Given the description of an element on the screen output the (x, y) to click on. 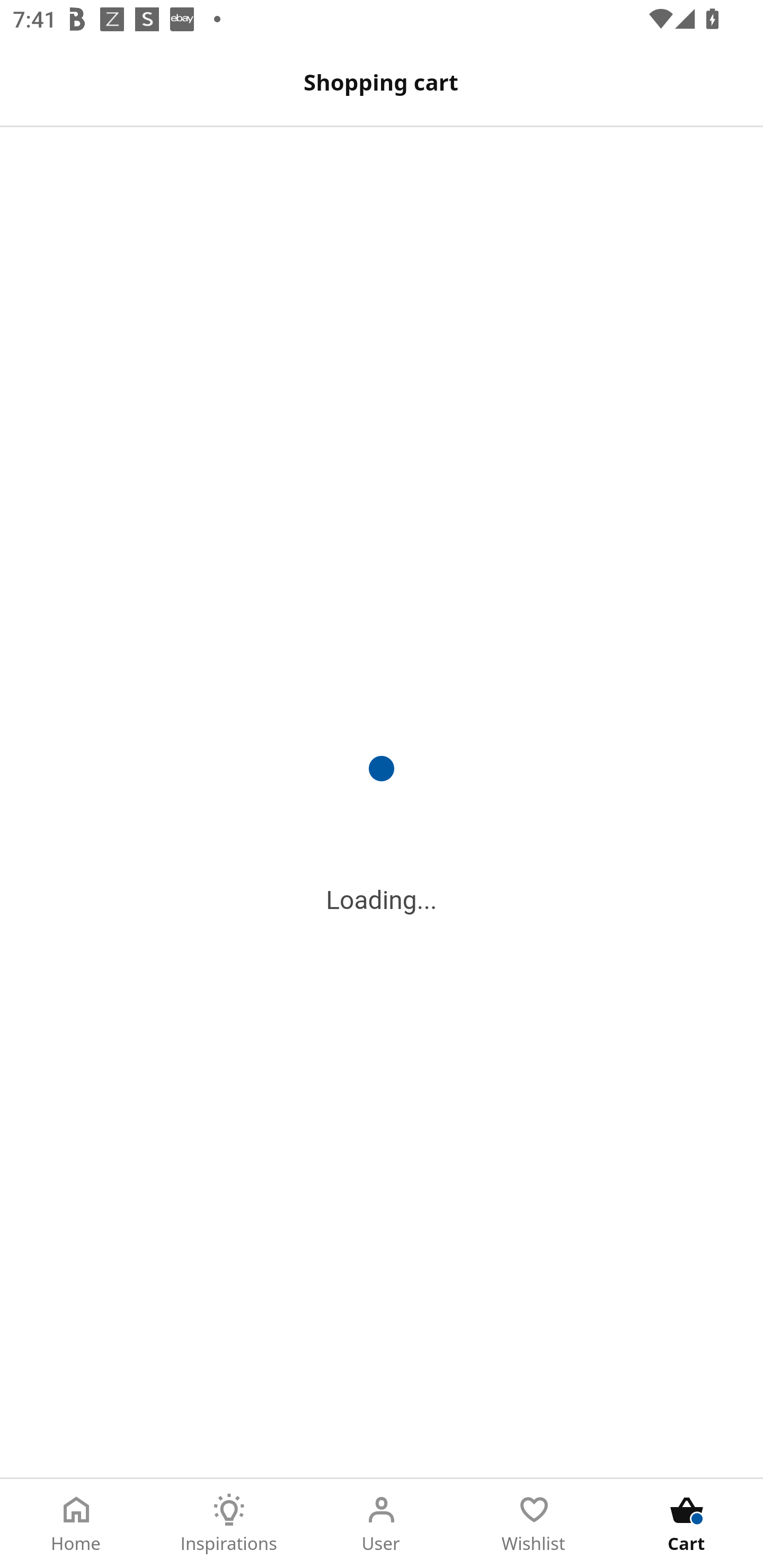
Home
Tab 1 of 5 (76, 1522)
Inspirations
Tab 2 of 5 (228, 1522)
User
Tab 3 of 5 (381, 1522)
Wishlist
Tab 4 of 5 (533, 1522)
Cart
Tab 5 of 5 (686, 1522)
